Given the description of an element on the screen output the (x, y) to click on. 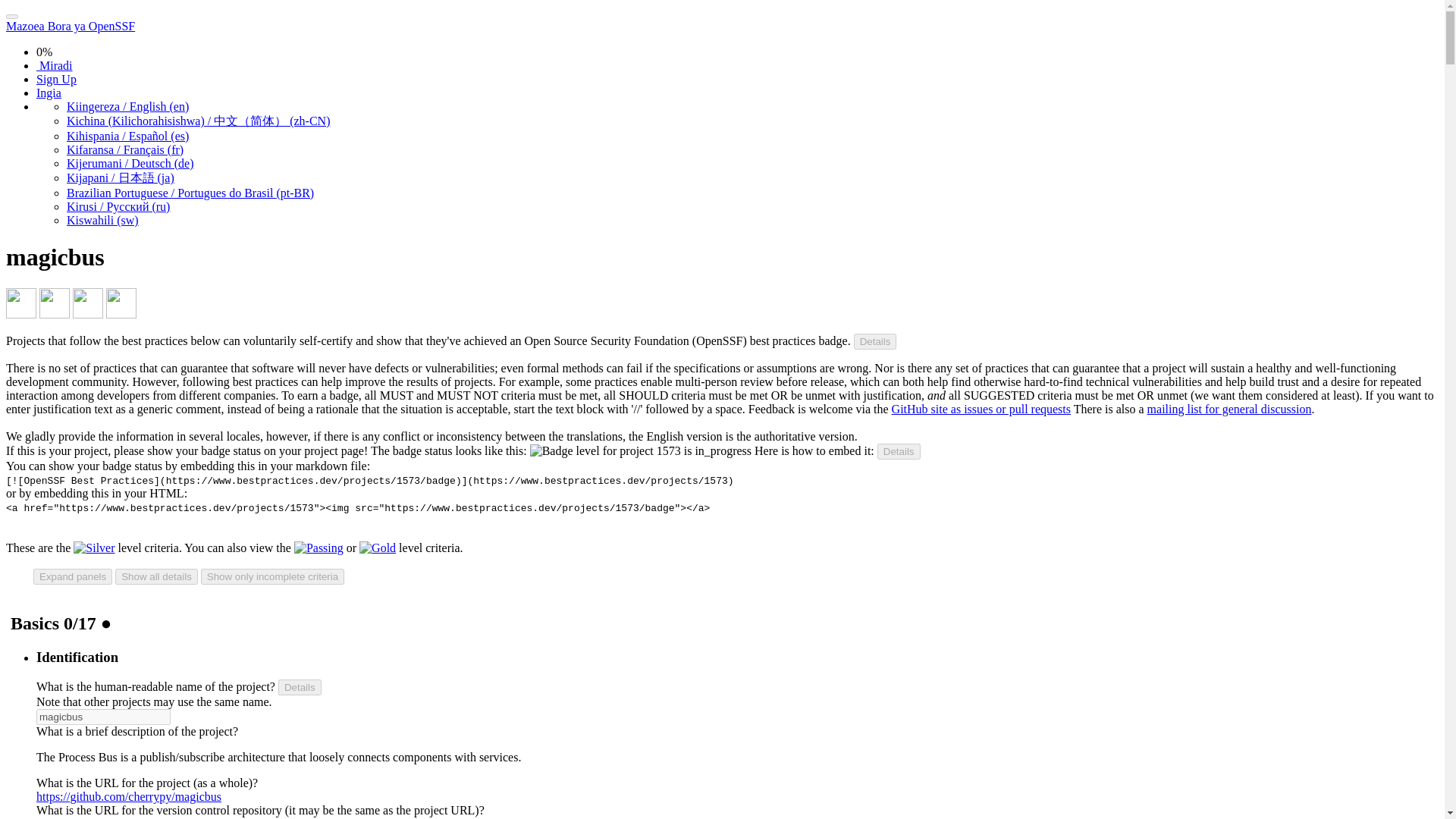
Mazoea Bora ya OpenSSF (70, 25)
mailing list for general discussion (1229, 408)
Sign Up (56, 78)
Details (898, 451)
magicbus (103, 716)
GitHub site as issues or pull requests (980, 408)
Toggle details text (299, 687)
Ingia (48, 92)
Expand all panels (72, 576)
Gold (377, 547)
Passing (318, 547)
Show all details (156, 576)
Details (874, 341)
Silver (94, 547)
Expand panels (72, 576)
